Given the description of an element on the screen output the (x, y) to click on. 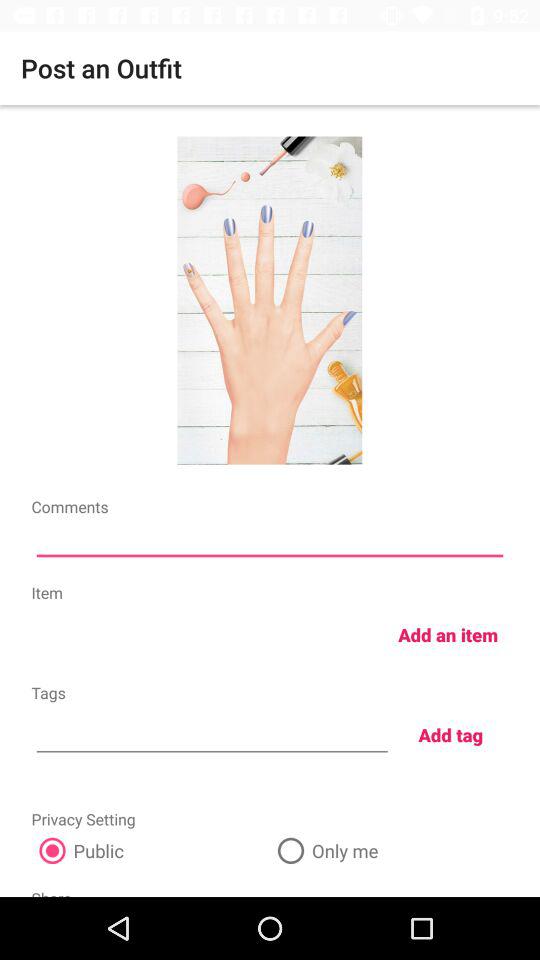
choose icon below add tag item (389, 850)
